Given the description of an element on the screen output the (x, y) to click on. 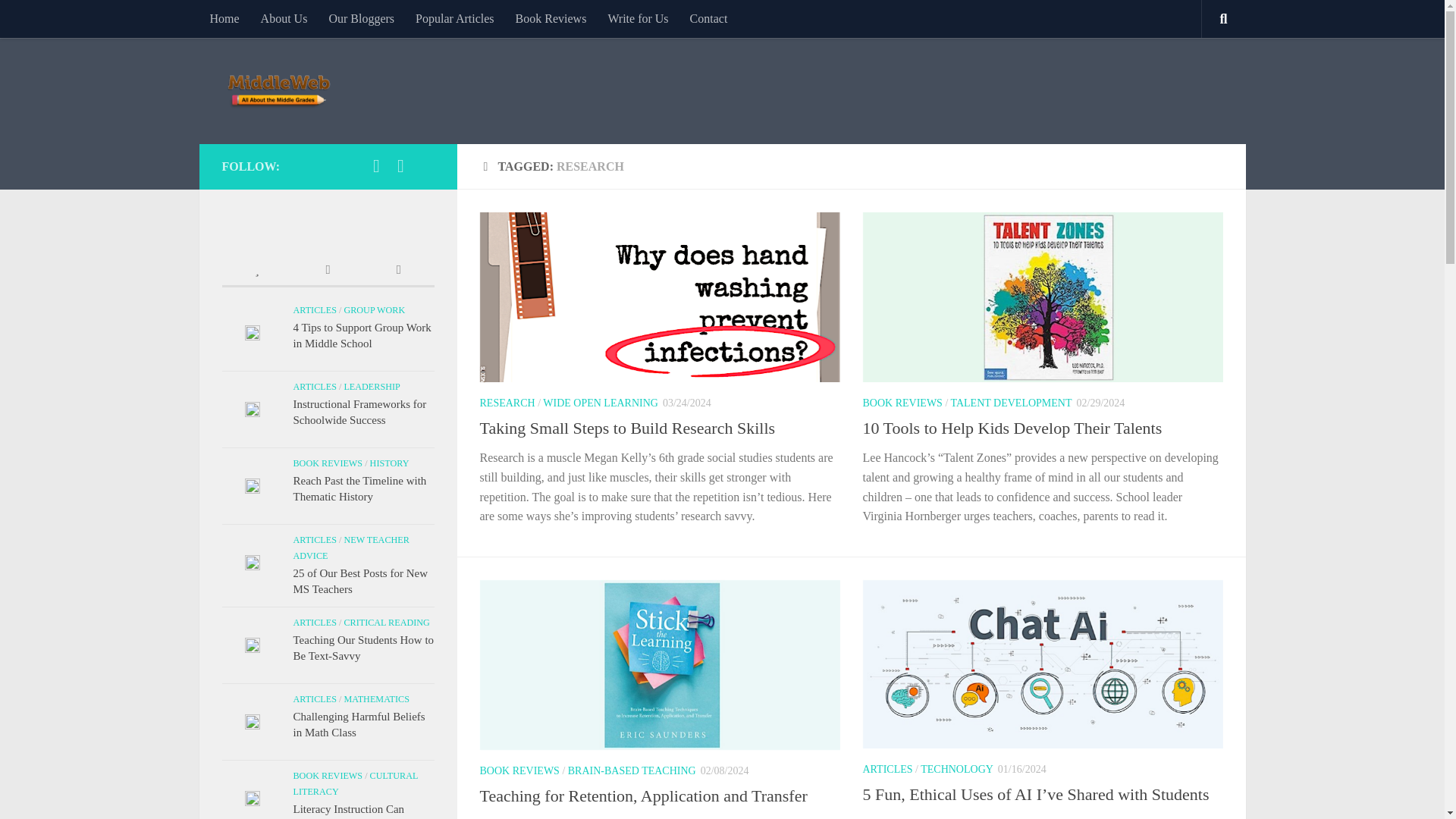
BOOK REVIEWS (519, 770)
TALENT DEVELOPMENT (1010, 402)
Popular Articles (454, 18)
10 Tools to Help Kids Develop Their Talents (1012, 427)
ARTICLES (887, 768)
Taking Small Steps to Build Research Skills (626, 427)
TECHNOLOGY (956, 768)
About Us (284, 18)
Our Bloggers (360, 18)
Book Reviews (550, 18)
WIDE OPEN LEARNING (600, 402)
BRAIN-BASED TEACHING (631, 770)
Teaching for Retention, Application and Transfer (642, 795)
BOOK REVIEWS (902, 402)
Skip to content (59, 20)
